Given the description of an element on the screen output the (x, y) to click on. 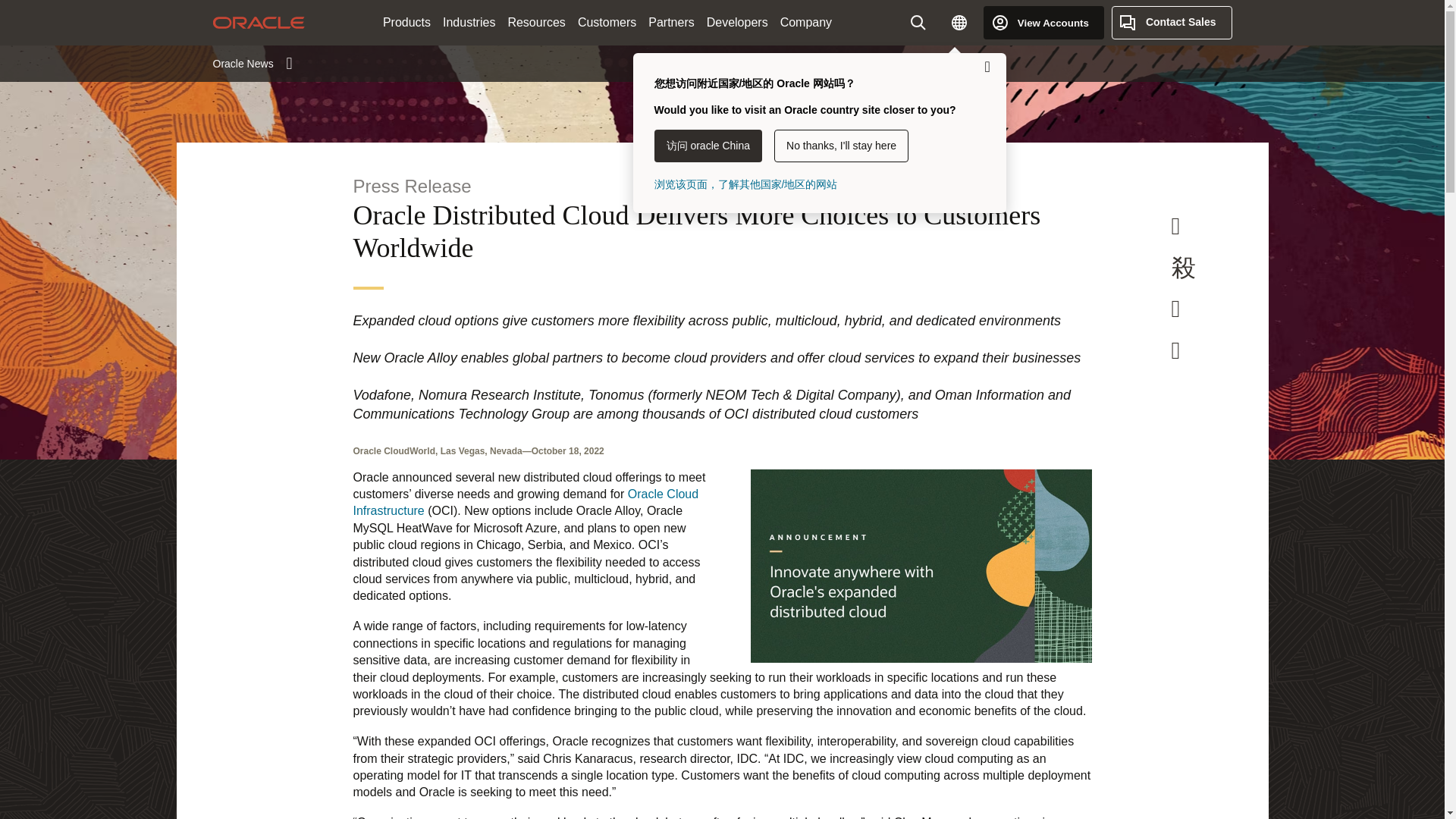
Resources (535, 22)
View Accounts (1043, 22)
Partners (671, 22)
Country (958, 22)
Company (806, 22)
Oracle Cloud Infrastructure (525, 501)
No thanks, I'll stay here (841, 145)
Contact Sales (1171, 22)
Contact Sales (1171, 22)
Developers (737, 22)
